Given the description of an element on the screen output the (x, y) to click on. 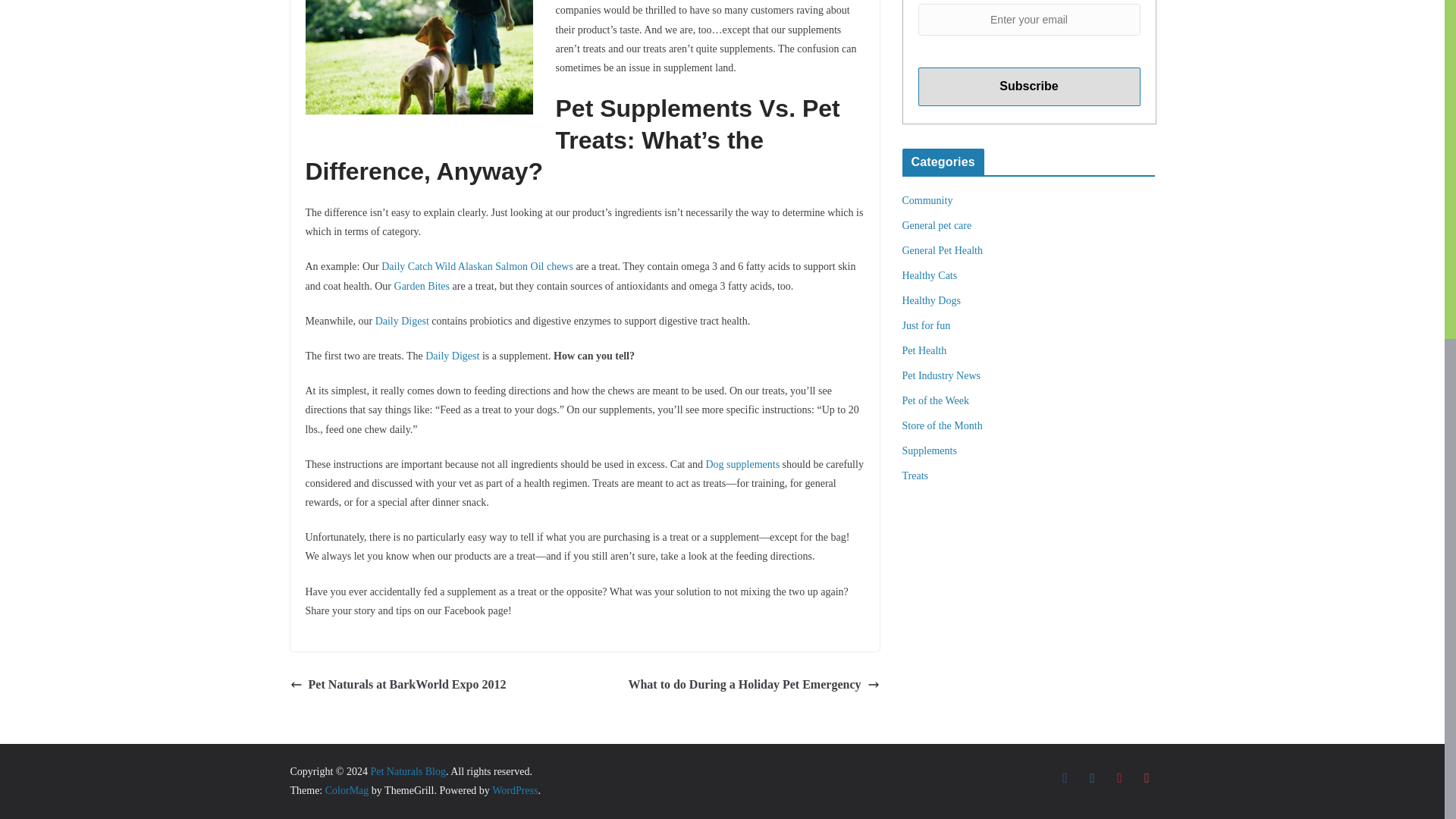
What to do During a Holiday Pet Emergency (753, 685)
Daily Digest  (402, 320)
Daily Digest (452, 355)
Daily Digest  (452, 355)
General pet care (937, 225)
Daily Digest (402, 320)
Garden Bites (421, 285)
Dog supplements (741, 464)
General Pet Health (943, 250)
Healthy Cats (930, 275)
